Given the description of an element on the screen output the (x, y) to click on. 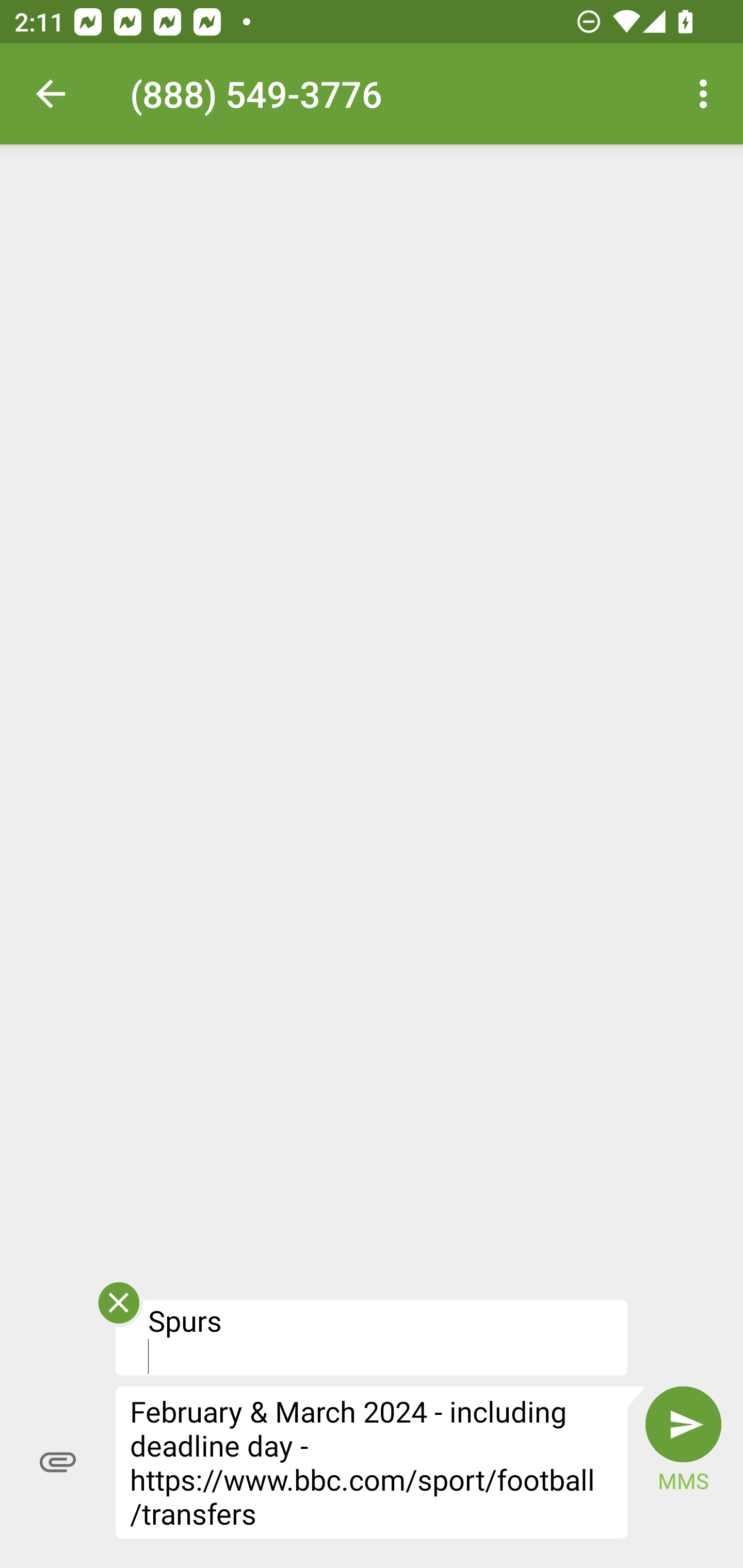
Navigate up (50, 93)
More options (706, 93)
Delete subject (117, 1309)
Spurs
 (371, 1337)
Send Message (683, 1424)
Add an attachment (57, 1462)
